Given the description of an element on the screen output the (x, y) to click on. 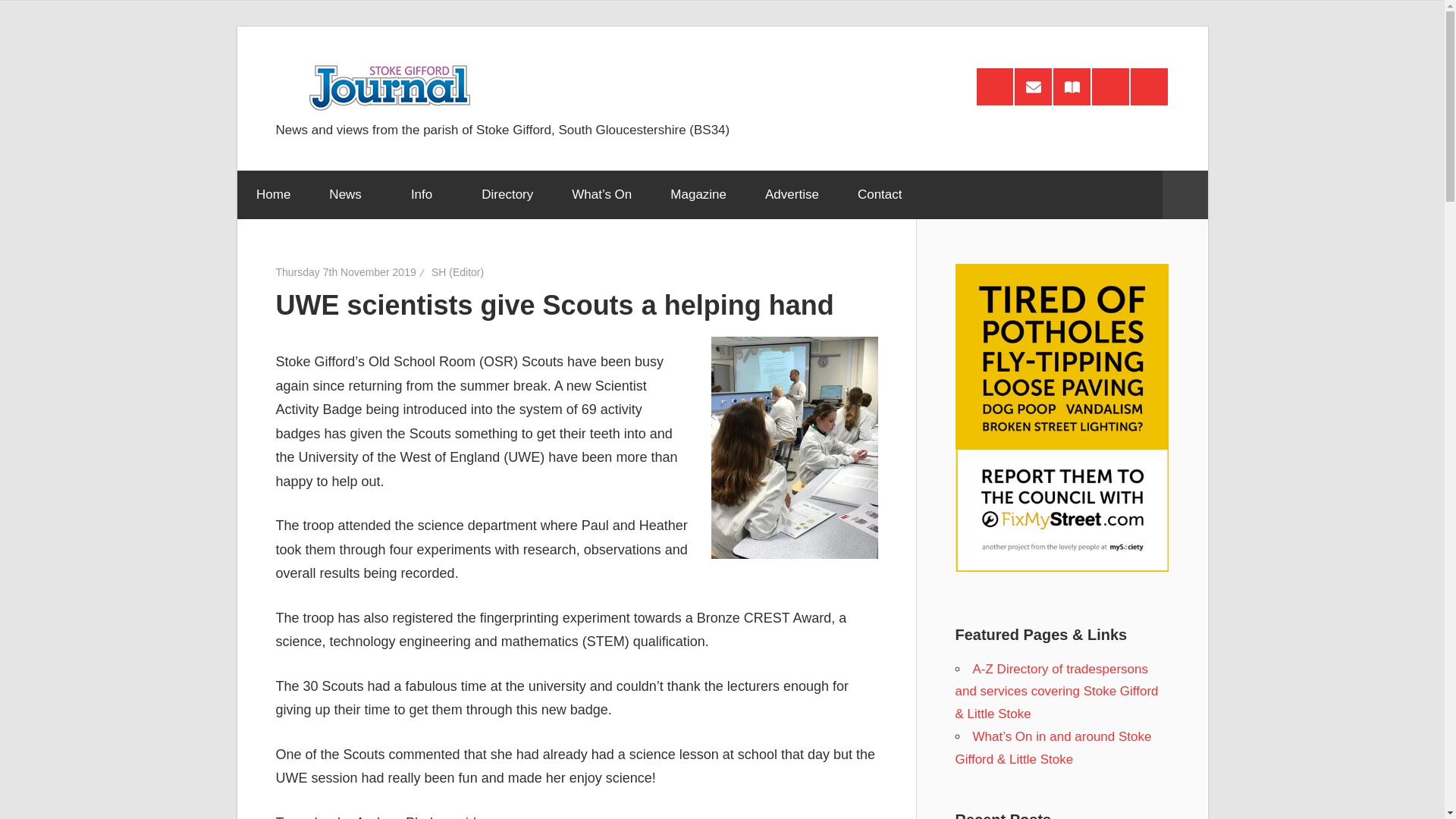
Stoke Gifford Journal on Facebook (1110, 86)
Info (426, 194)
RSS news feed of the Stoke Gifford Journal (994, 86)
Read our Magazine (1071, 86)
Get the Stoke Gifford Journal delivered by email (1032, 86)
Read the Stoke Gifford Journal magazine online (1071, 86)
Home (271, 194)
Feed (994, 86)
Subscribe by Email (1032, 86)
News (350, 194)
5:02pm (346, 272)
Stoke Gifford Journal on Twitter (1149, 86)
Twitter (1149, 86)
Facebook (1110, 86)
